Given the description of an element on the screen output the (x, y) to click on. 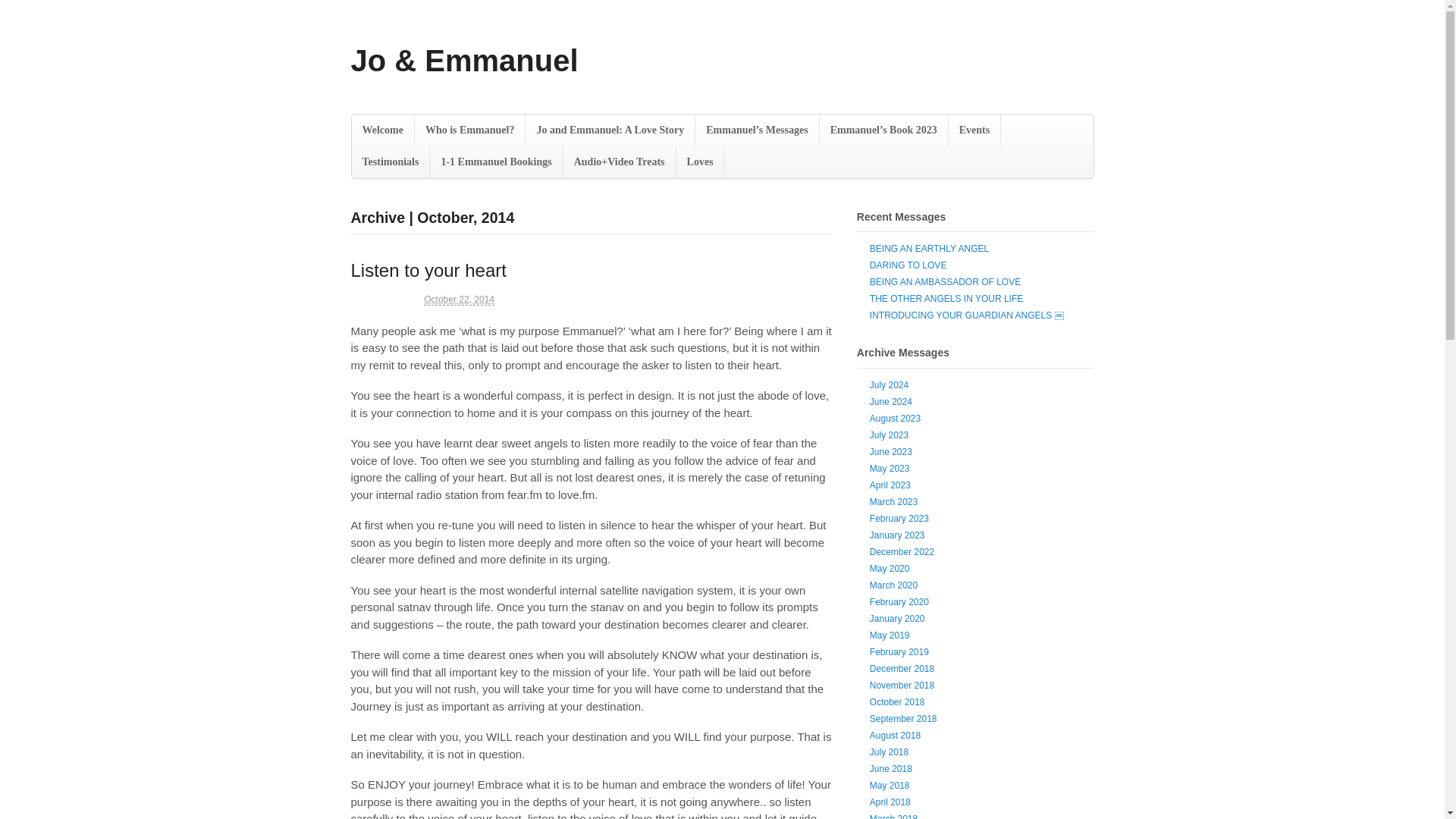
0 (827, 299)
June 2023 (890, 451)
December 2022 (901, 552)
Welcome (382, 130)
Jo and Emmanuel: A Love Story (609, 130)
June 2024 (890, 401)
May 2023 (889, 468)
February 2023 (898, 518)
January 2020 (896, 618)
January 2023 (896, 534)
